Given the description of an element on the screen output the (x, y) to click on. 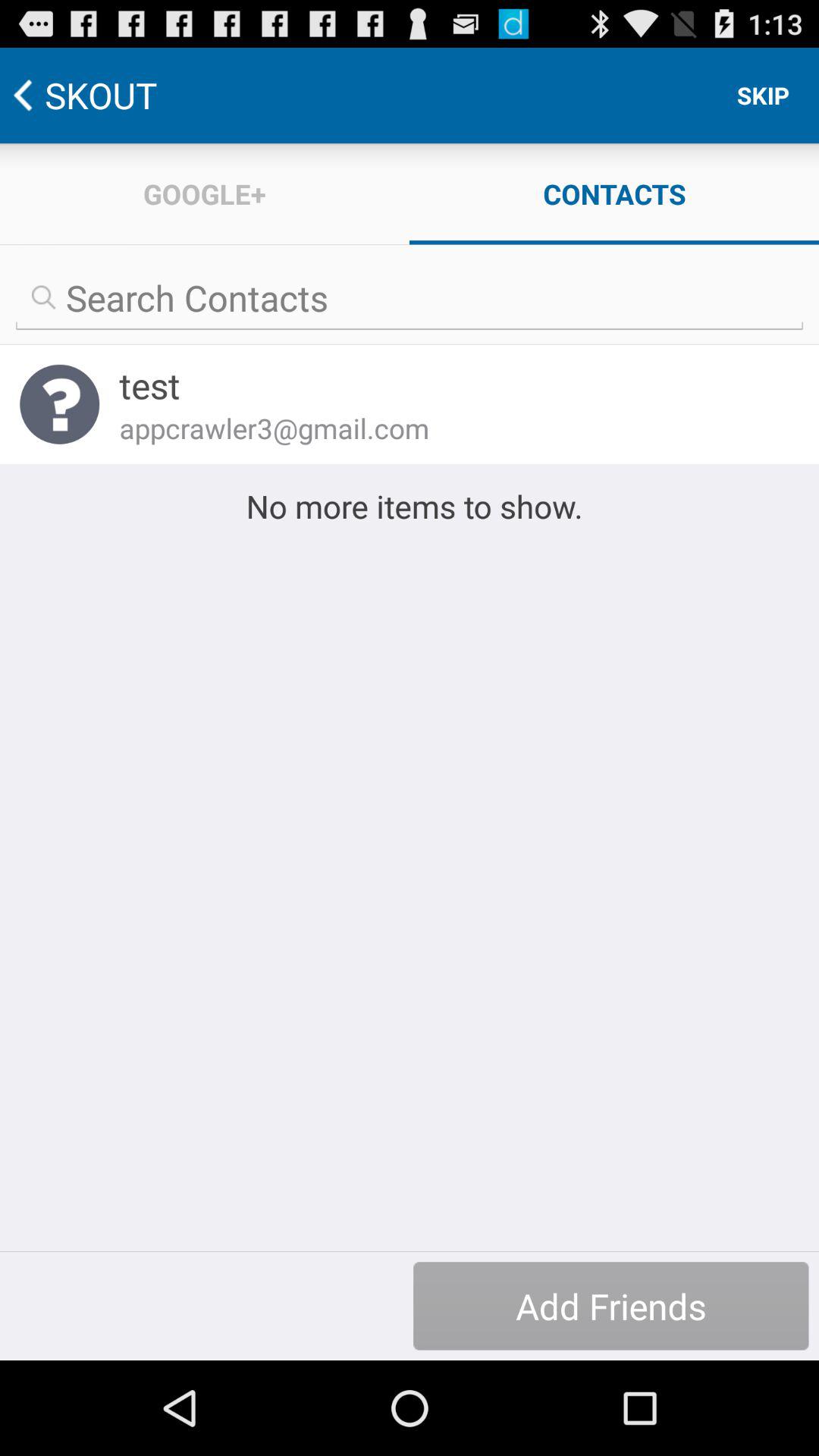
launch the item to the left of the contacts item (204, 193)
